Given the description of an element on the screen output the (x, y) to click on. 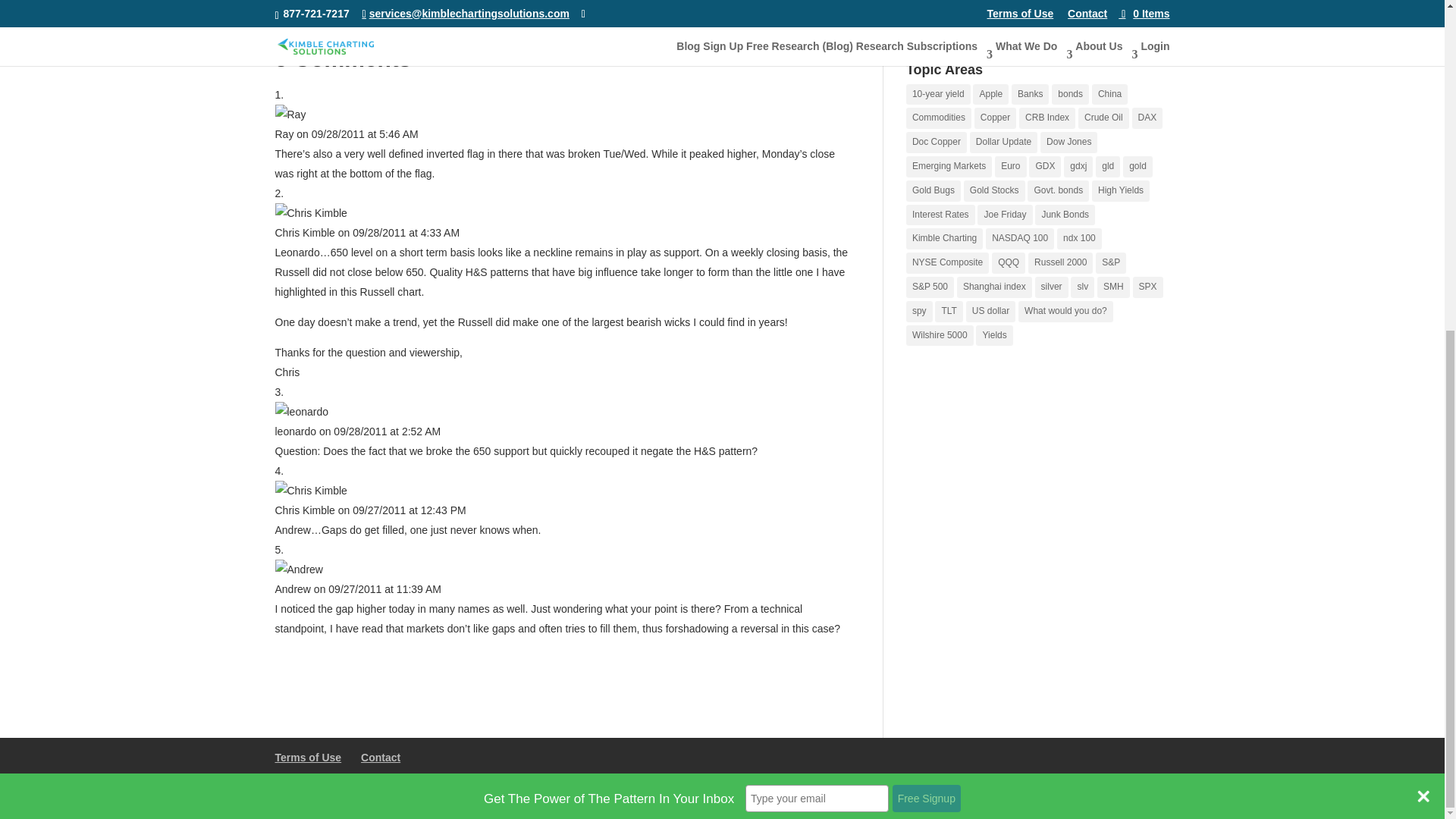
16Wells (657, 797)
